Given the description of an element on the screen output the (x, y) to click on. 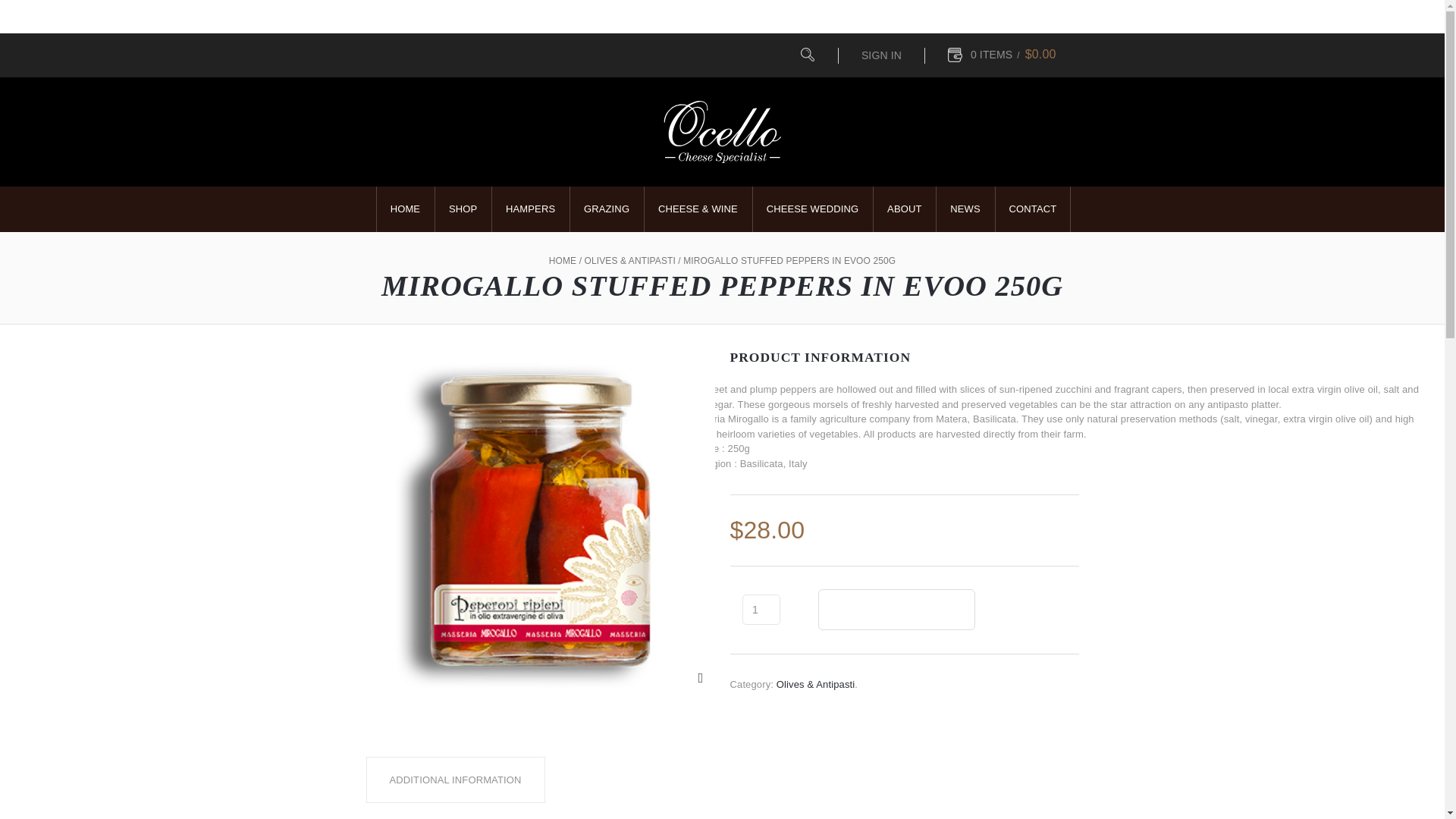
Go (807, 54)
1 (759, 609)
Qty (759, 609)
